Given the description of an element on the screen output the (x, y) to click on. 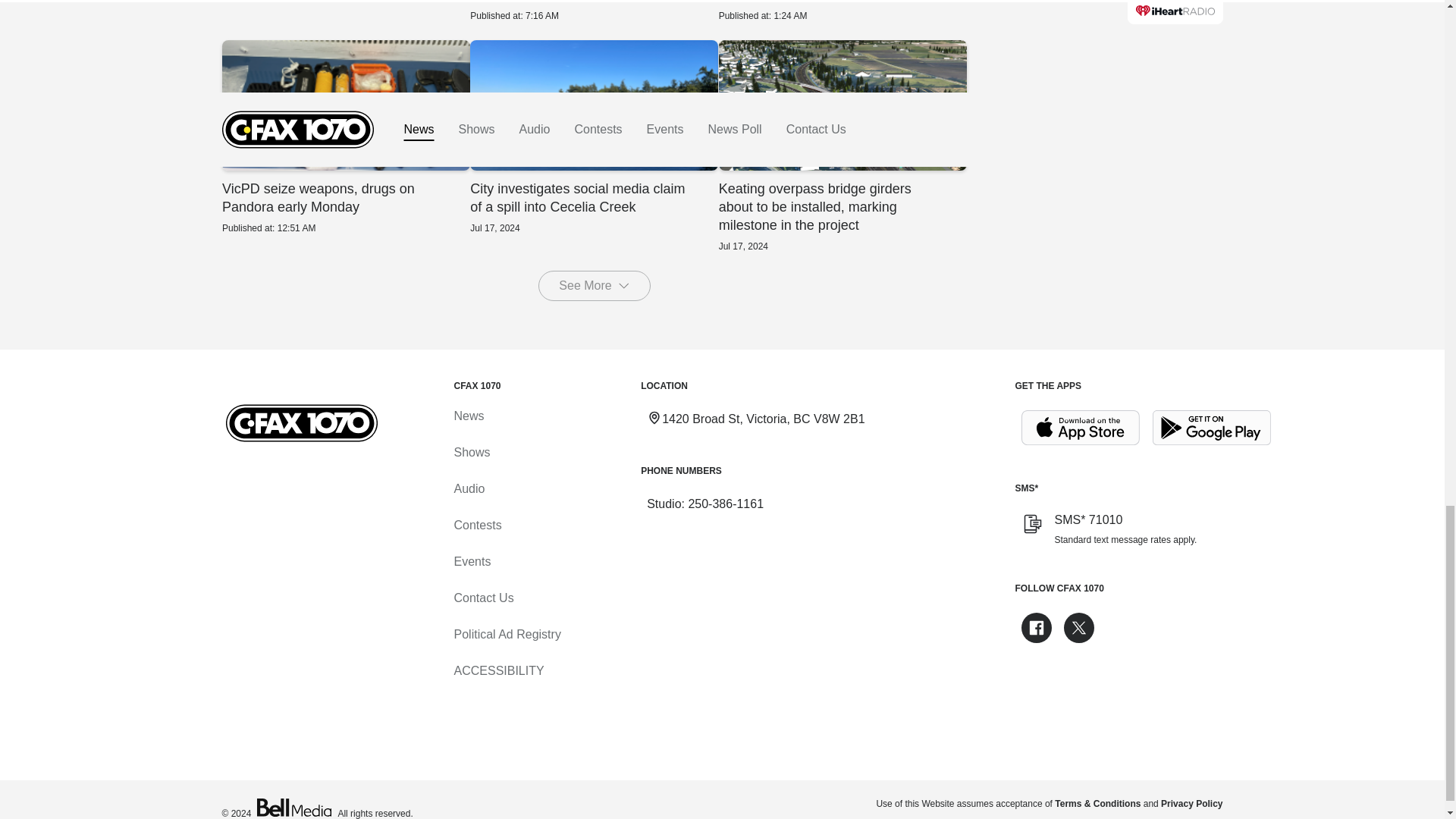
Events (471, 561)
News (467, 415)
VicPD seize weapons, drugs on Pandora early Monday (344, 137)
Political Ad Registry (506, 634)
Get it on Google Play (1212, 427)
Privacy Policy (1191, 803)
Camosun Getting On Campus Housing (593, 11)
ACCESSIBILITY (497, 671)
Contact Us (344, 2)
Audio (482, 597)
